Given the description of an element on the screen output the (x, y) to click on. 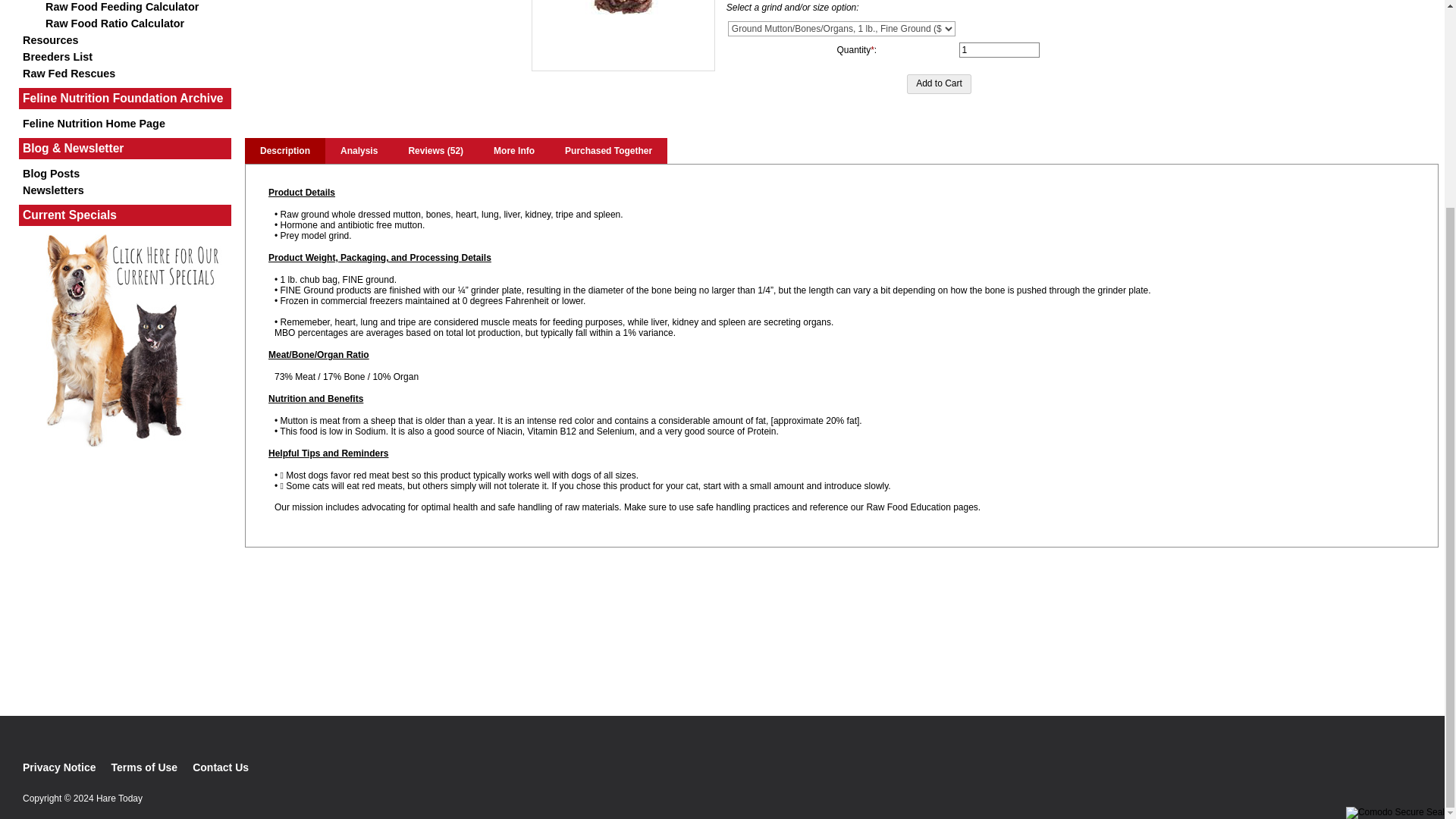
1 (999, 49)
Add to Cart (939, 84)
